Given the description of an element on the screen output the (x, y) to click on. 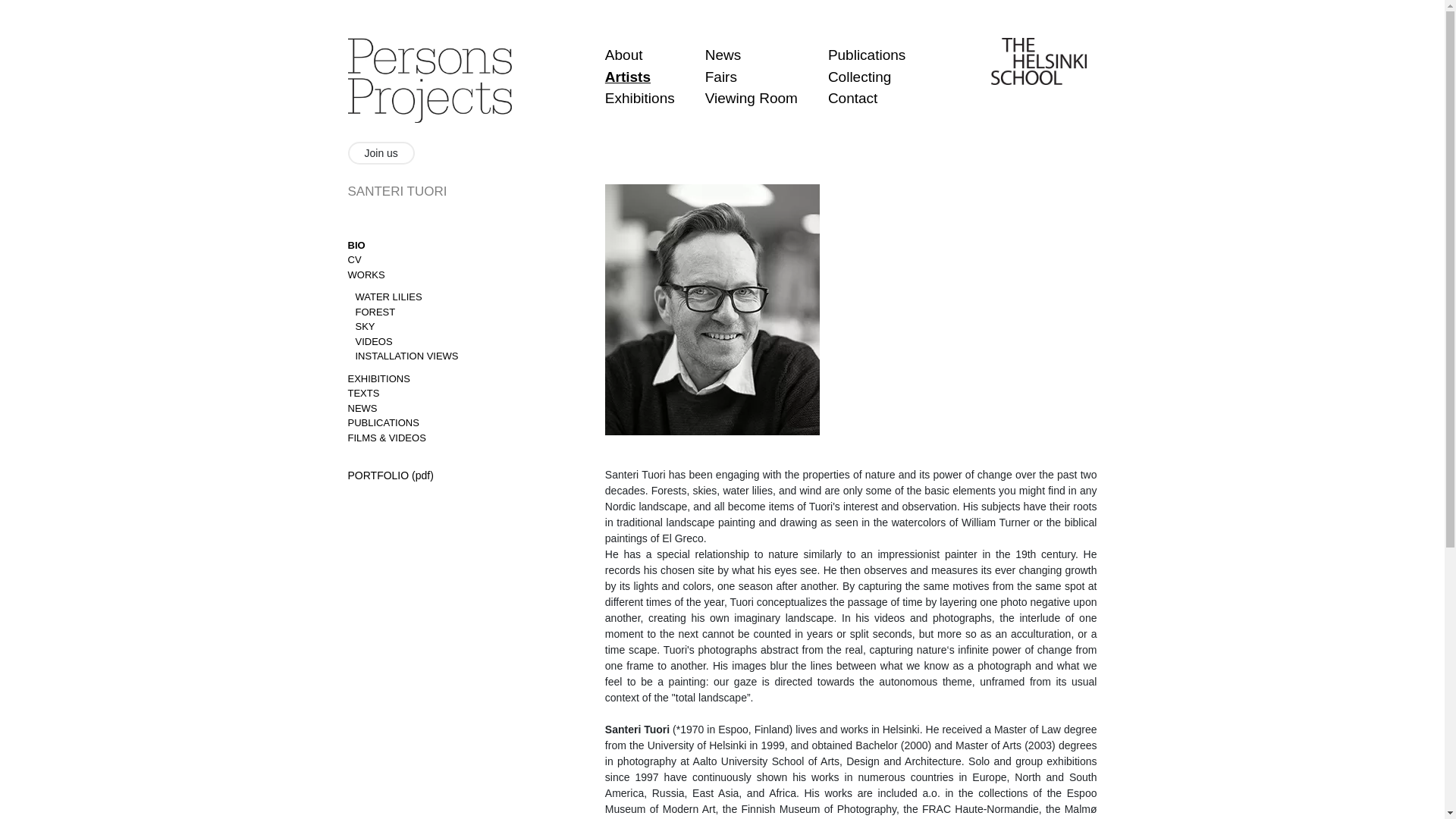
CV (354, 259)
About (624, 54)
TEXTS (362, 392)
Fairs (720, 75)
EXHIBITIONS (378, 378)
Publications (866, 54)
Viewing Room (750, 98)
Santeri Tuori - bio (356, 244)
Join us (380, 152)
Fairs (720, 75)
